Given the description of an element on the screen output the (x, y) to click on. 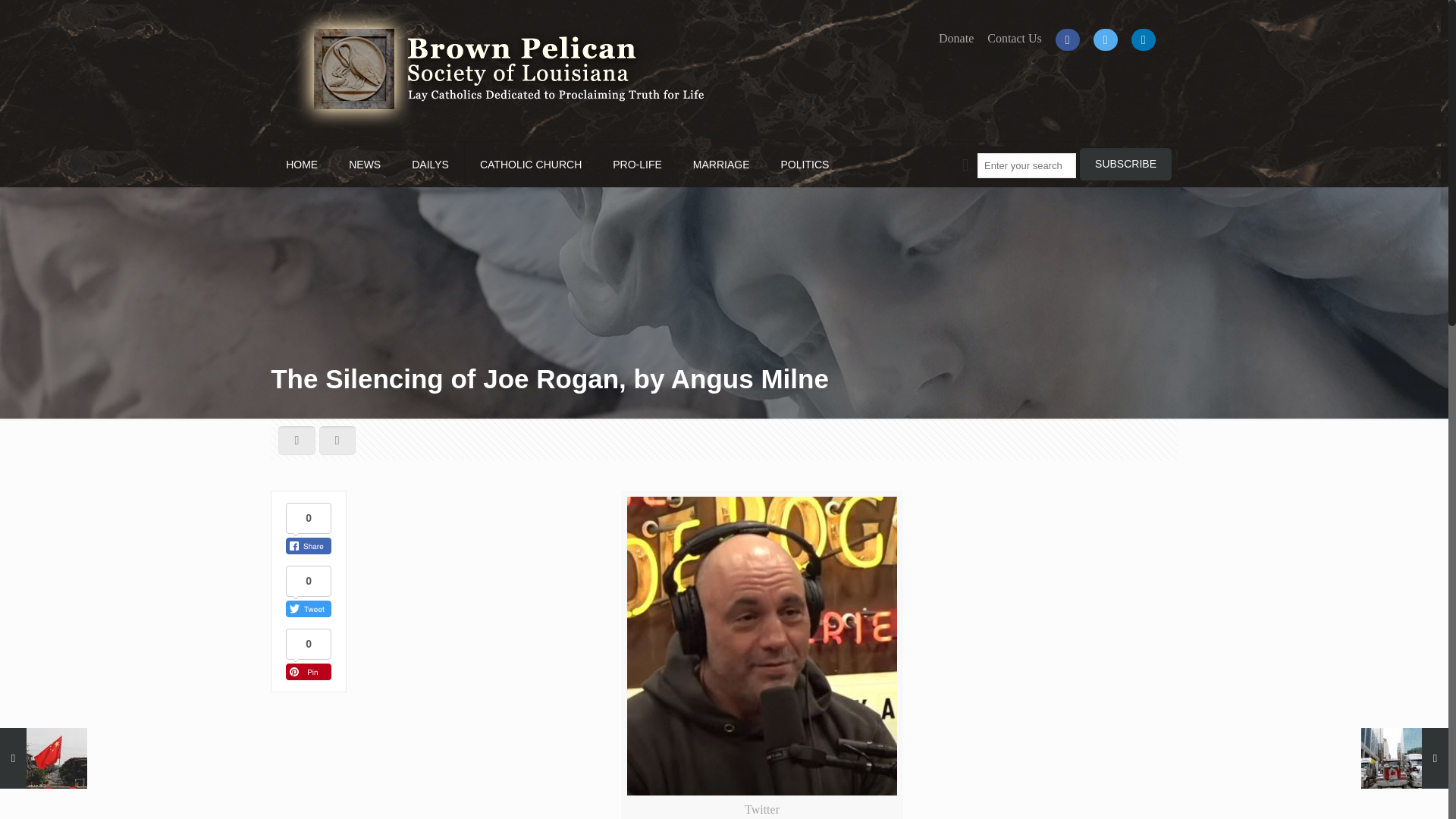
SUBSCRIBE (1126, 164)
HOME (301, 164)
PRO-LIFE (637, 164)
Donate (956, 38)
Contact Us (1014, 38)
CATHOLIC CHURCH (530, 164)
SUBSCRIBE (1126, 164)
Brown Pelican Society of Lousiana (498, 70)
NEWS (364, 164)
DAILYS (430, 164)
POLITICS (804, 164)
MARRIAGE (721, 164)
